Given the description of an element on the screen output the (x, y) to click on. 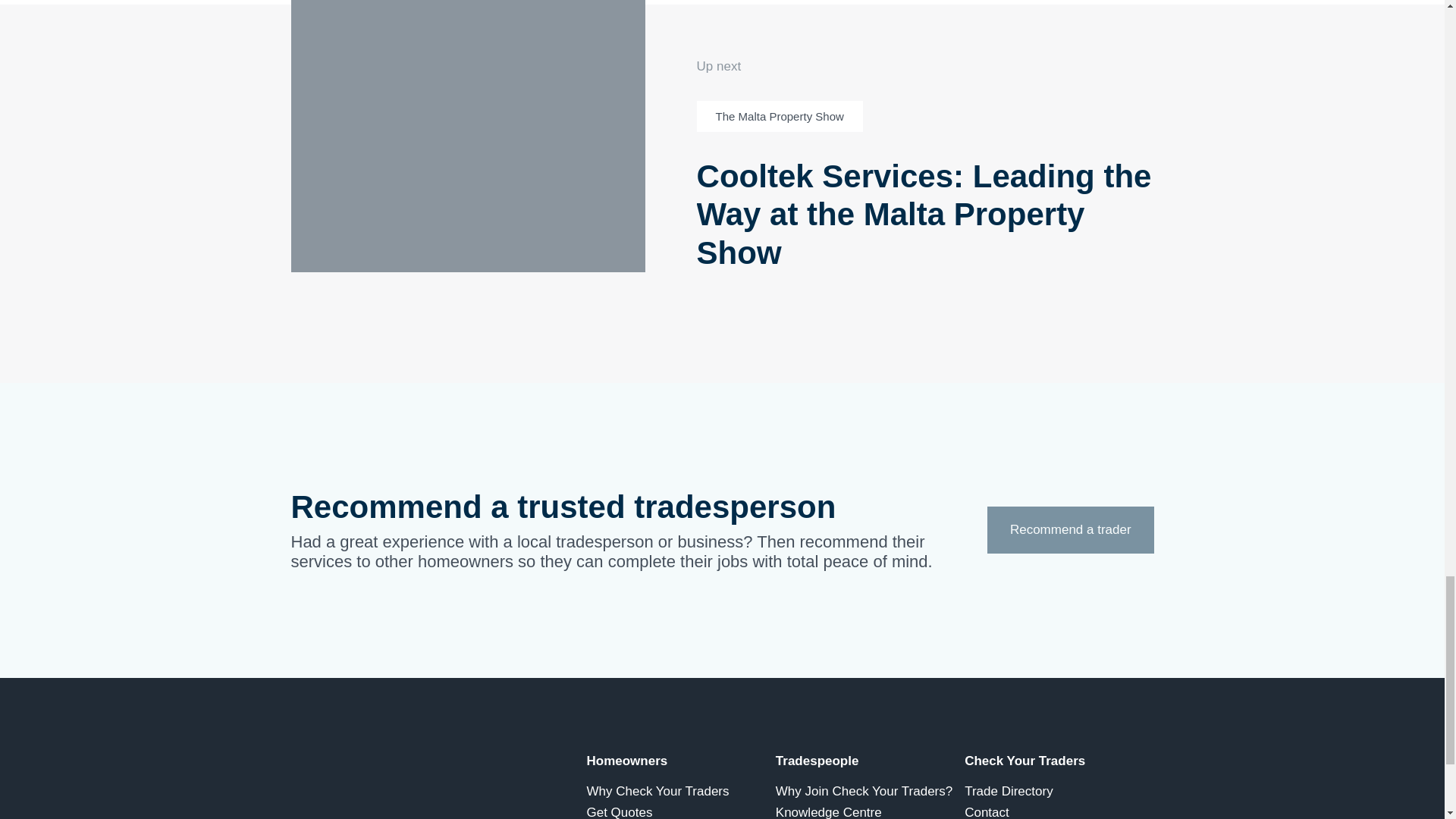
Get Quotes (681, 812)
Knowledge Centre (869, 812)
Recommend a trader (1070, 529)
Contact (1058, 812)
Cooltek Services: Leading the Way at the Malta Property Show (925, 214)
Trade Directory (1058, 791)
Why Join Check Your Traders? (869, 791)
Why Check Your Traders (681, 791)
Recommend a trader (1070, 529)
